Given the description of an element on the screen output the (x, y) to click on. 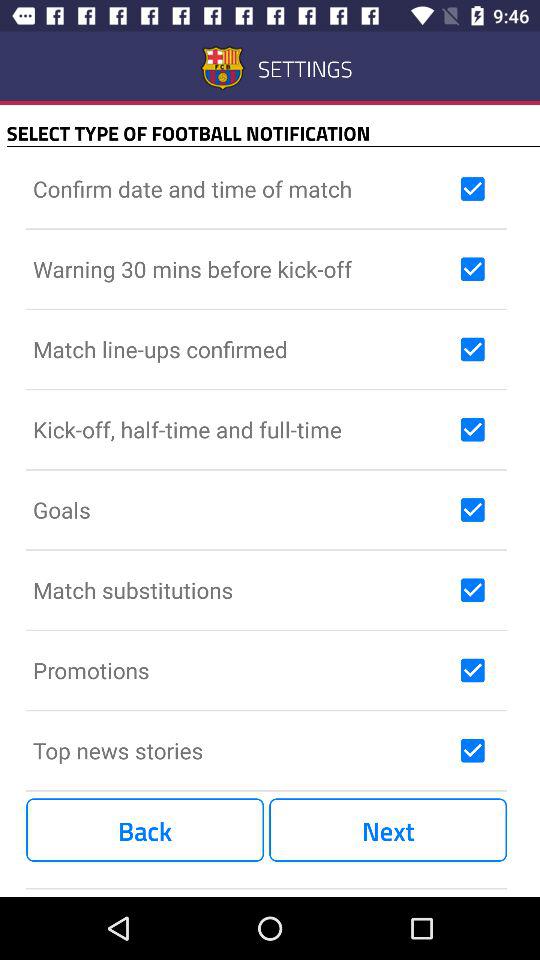
turn on the item next to back item (388, 829)
